Given the description of an element on the screen output the (x, y) to click on. 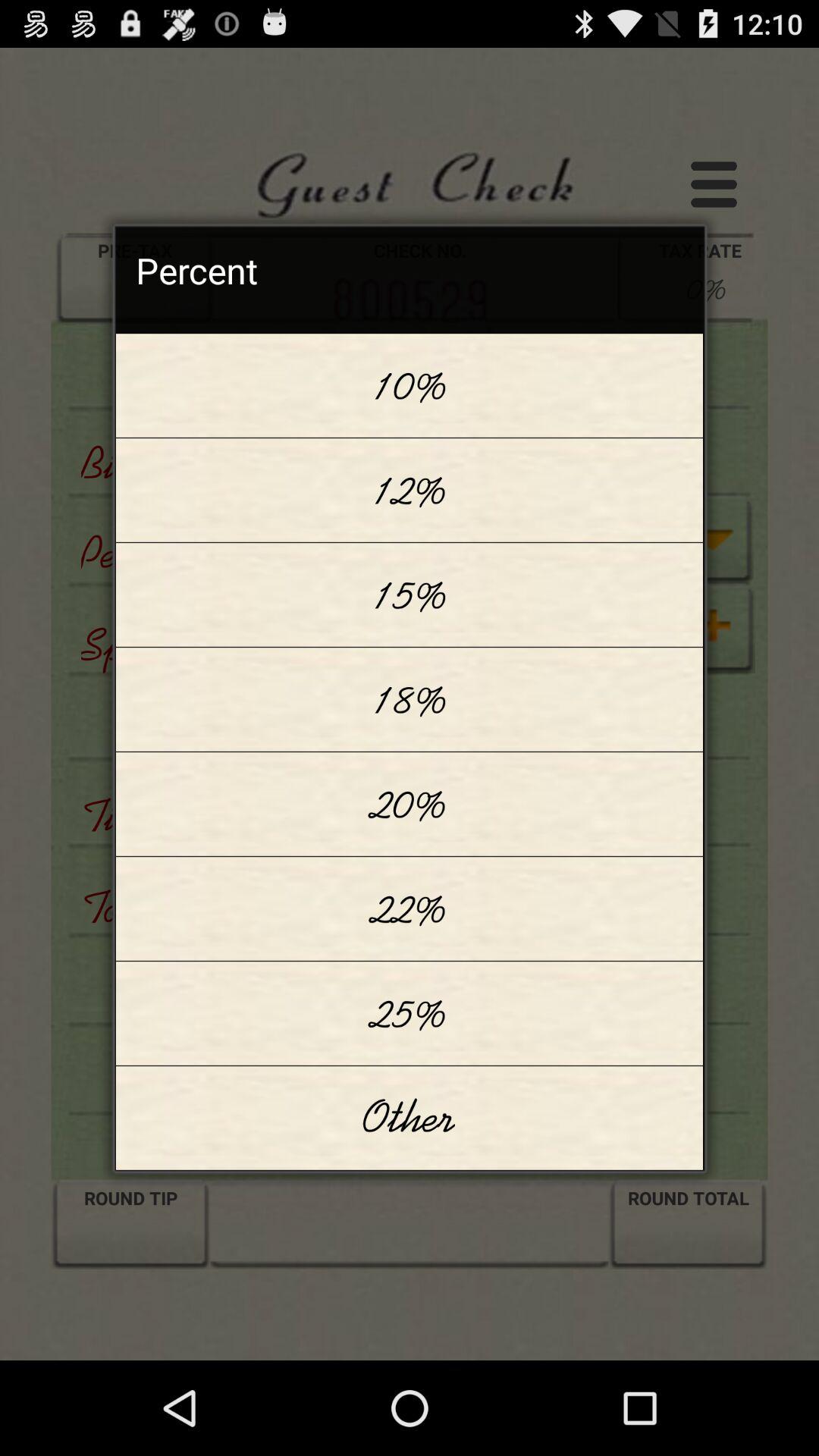
tap 15% item (409, 594)
